Given the description of an element on the screen output the (x, y) to click on. 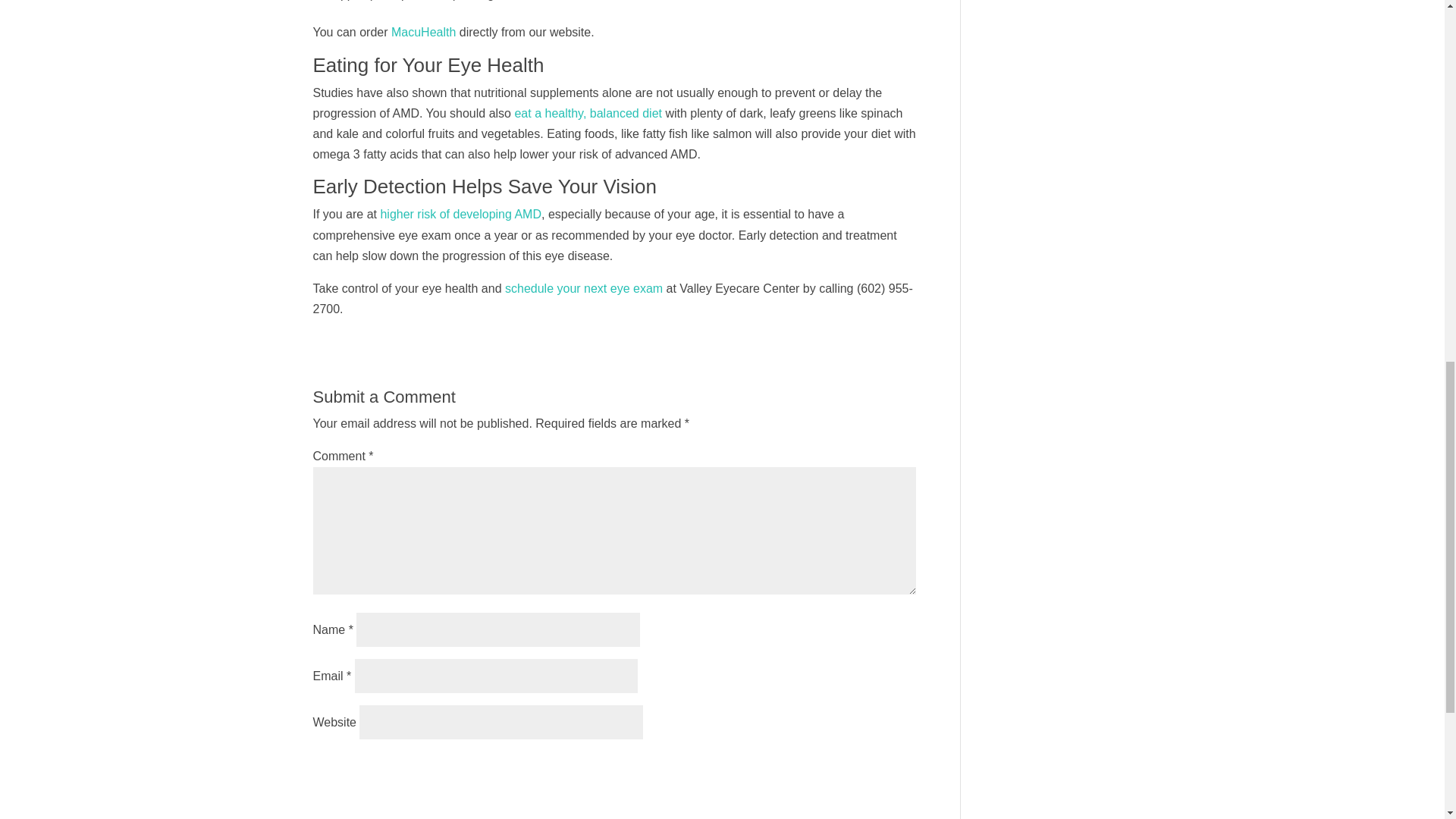
schedule your next eye exam (583, 287)
higher risk of developing AMD (460, 214)
Submit Comment (840, 770)
Submit Comment (840, 770)
MacuHealth (423, 31)
eat a healthy, balanced diet (587, 113)
